Given the description of an element on the screen output the (x, y) to click on. 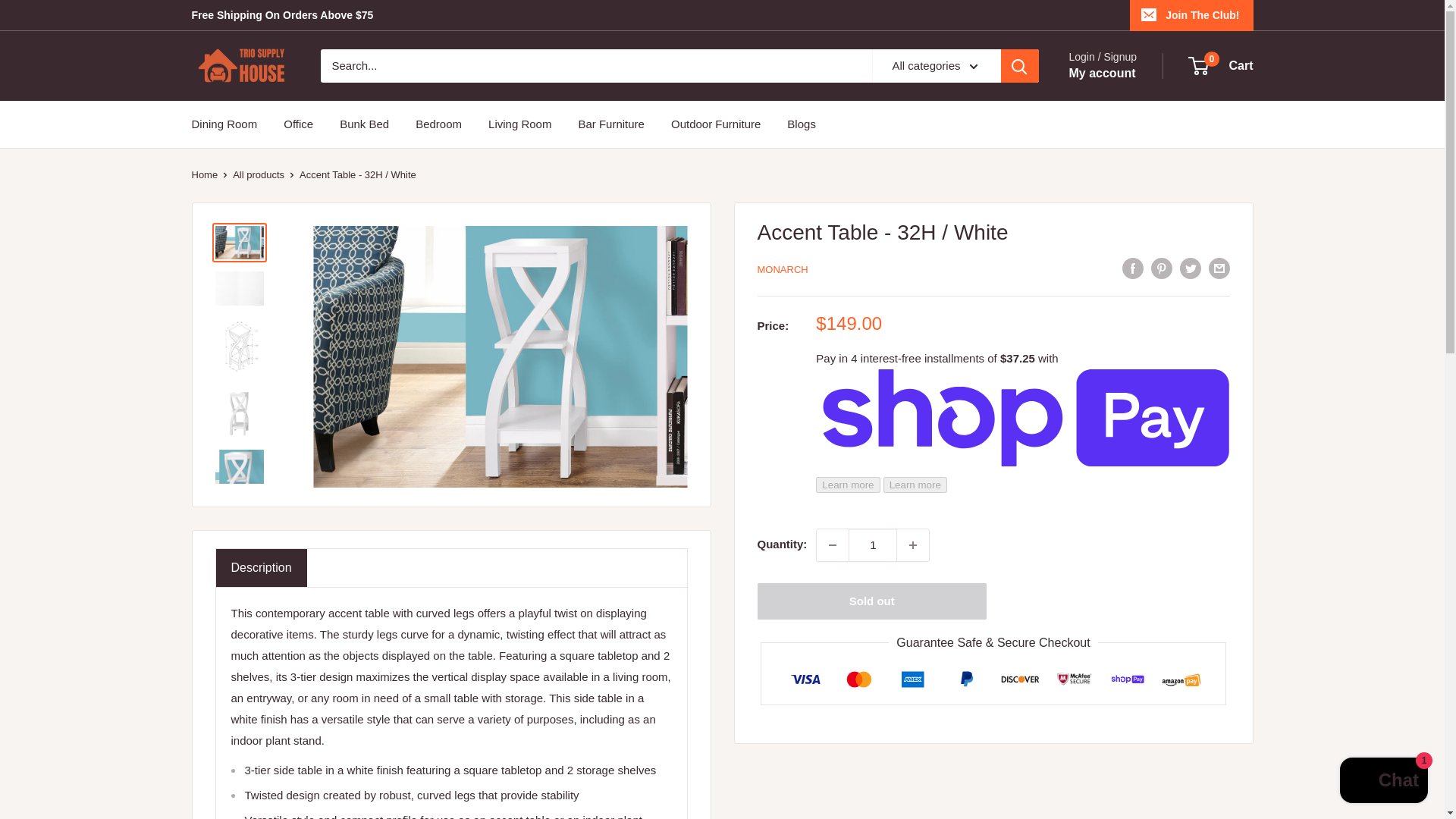
1 (872, 545)
My account (1101, 73)
Living Room (519, 124)
Blogs (801, 124)
Office (298, 124)
Decrease quantity by 1 (832, 545)
All products (257, 174)
Increase quantity by 1 (912, 545)
Bedroom (437, 124)
Bar Furniture (611, 124)
Trio Supply House (239, 65)
Bunk Bed (363, 124)
Shopify online store chat (1383, 781)
Join The Club! (1190, 15)
